Given the description of an element on the screen output the (x, y) to click on. 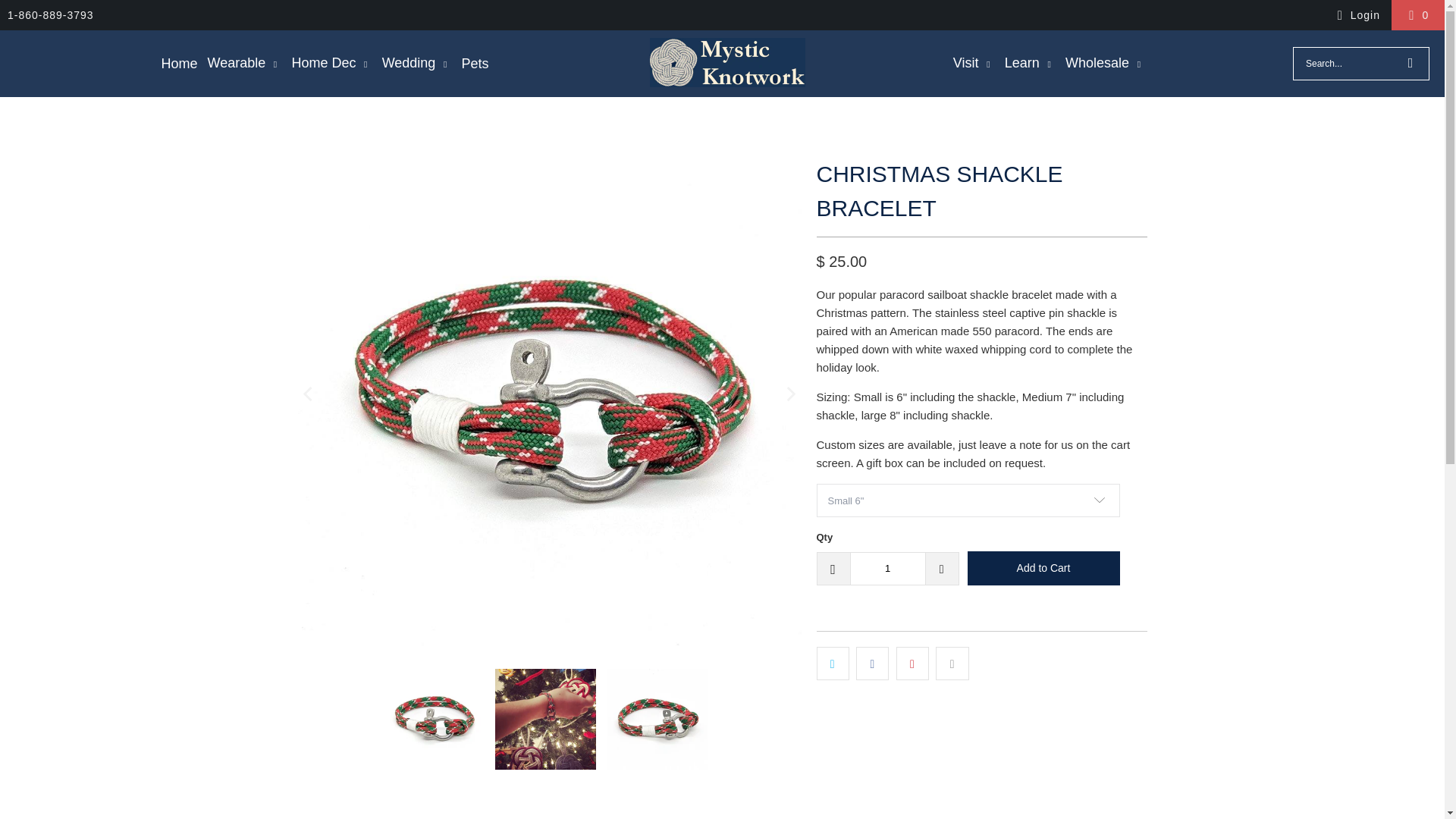
Share this on Pinterest (912, 662)
Mystic Knotwork (727, 63)
Share this on Facebook (872, 662)
Share this on Twitter (831, 662)
1 (886, 568)
Email this to a friend (952, 662)
My Account  (1356, 14)
